Given the description of an element on the screen output the (x, y) to click on. 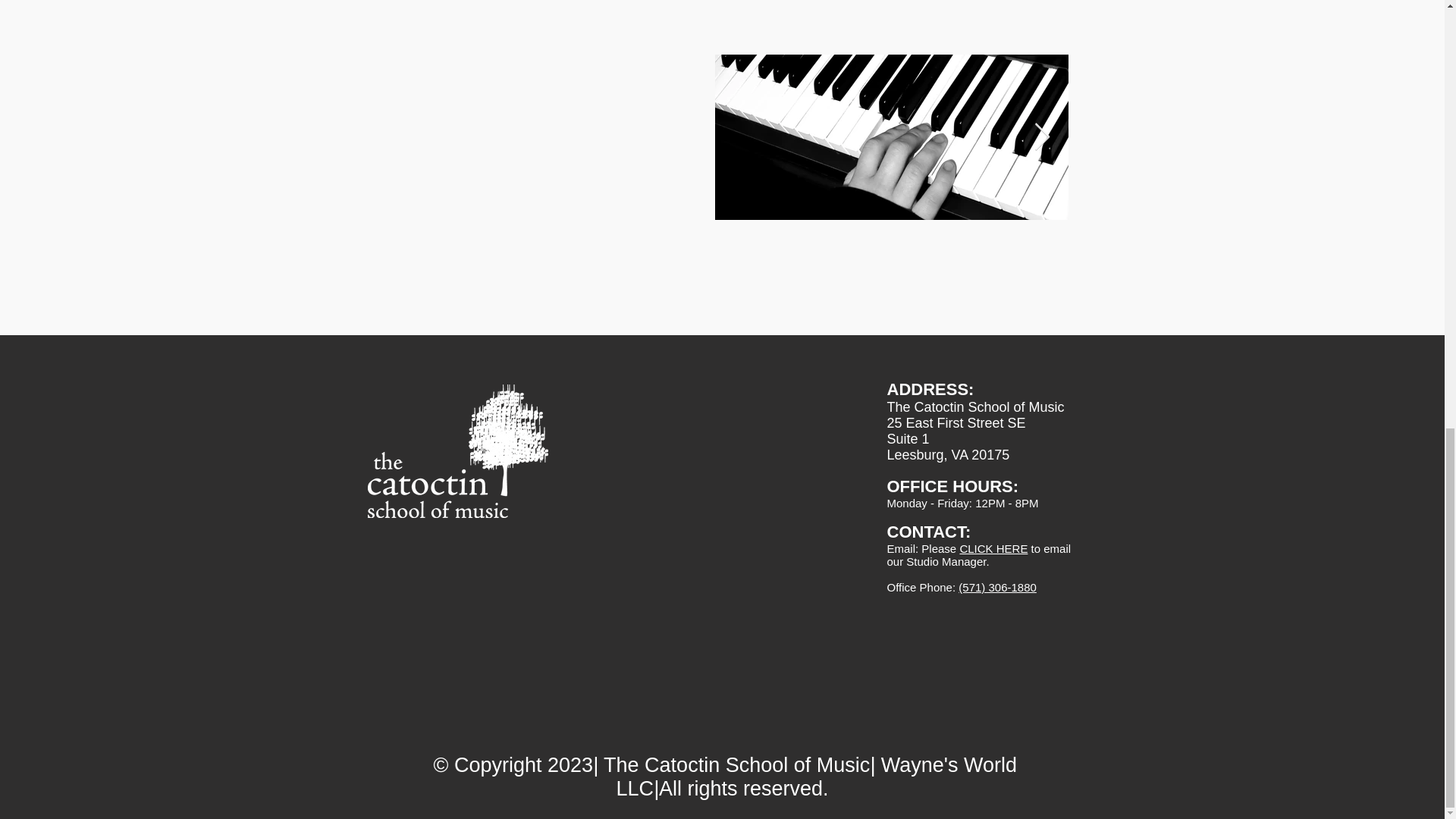
Email: Please CLICK HERE to email our Studio Manager. (978, 555)
